Given the description of an element on the screen output the (x, y) to click on. 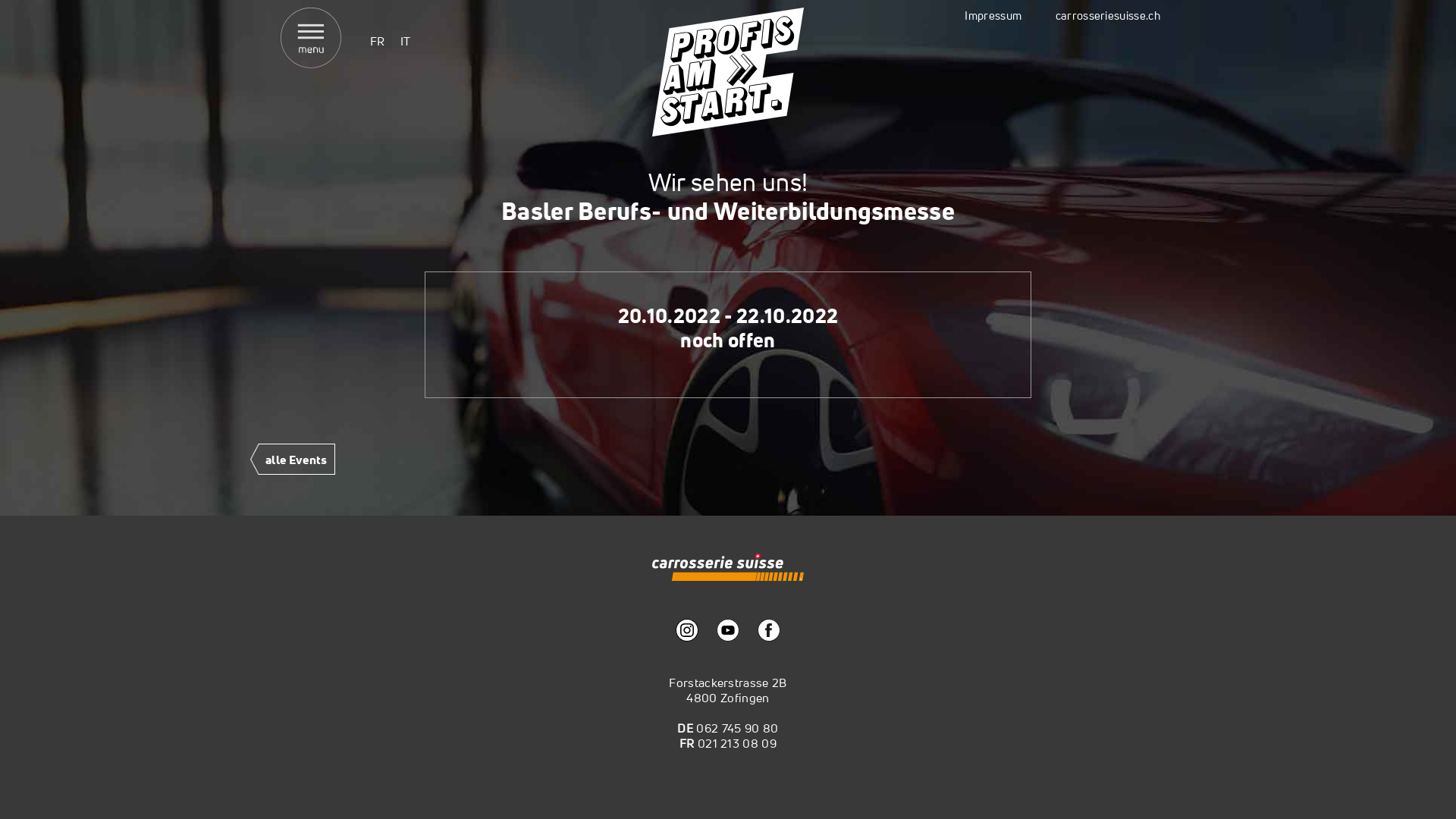
021 213 08 09 Element type: text (736, 742)
FR Element type: text (377, 41)
062 745 90 80 Element type: text (737, 727)
IT Element type: text (405, 41)
alle Events Element type: text (292, 462)
Impressum Element type: text (992, 15)
carrosseriesuisse.ch Element type: text (1107, 15)
